Given the description of an element on the screen output the (x, y) to click on. 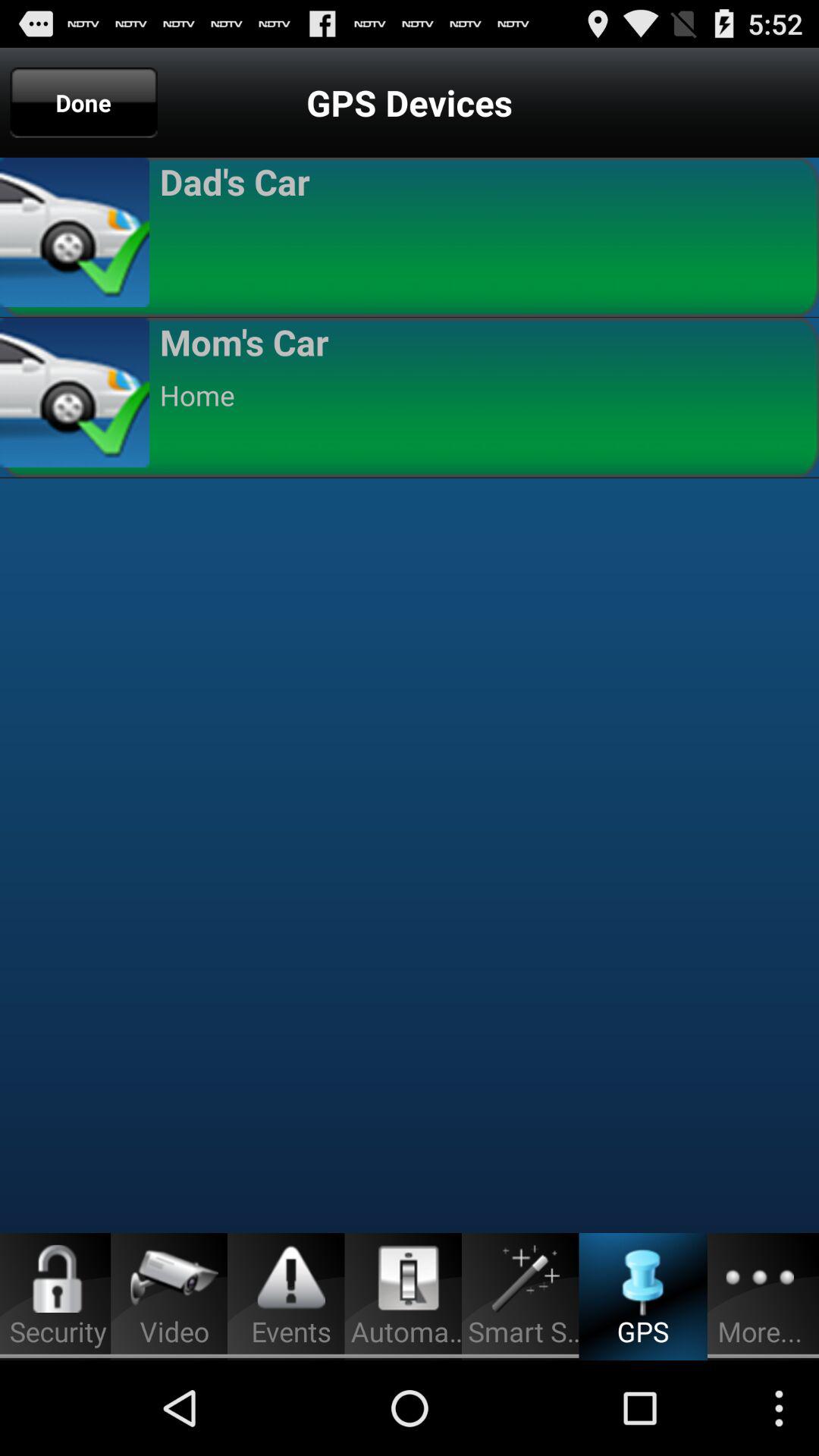
scroll to the home icon (481, 395)
